Given the description of an element on the screen output the (x, y) to click on. 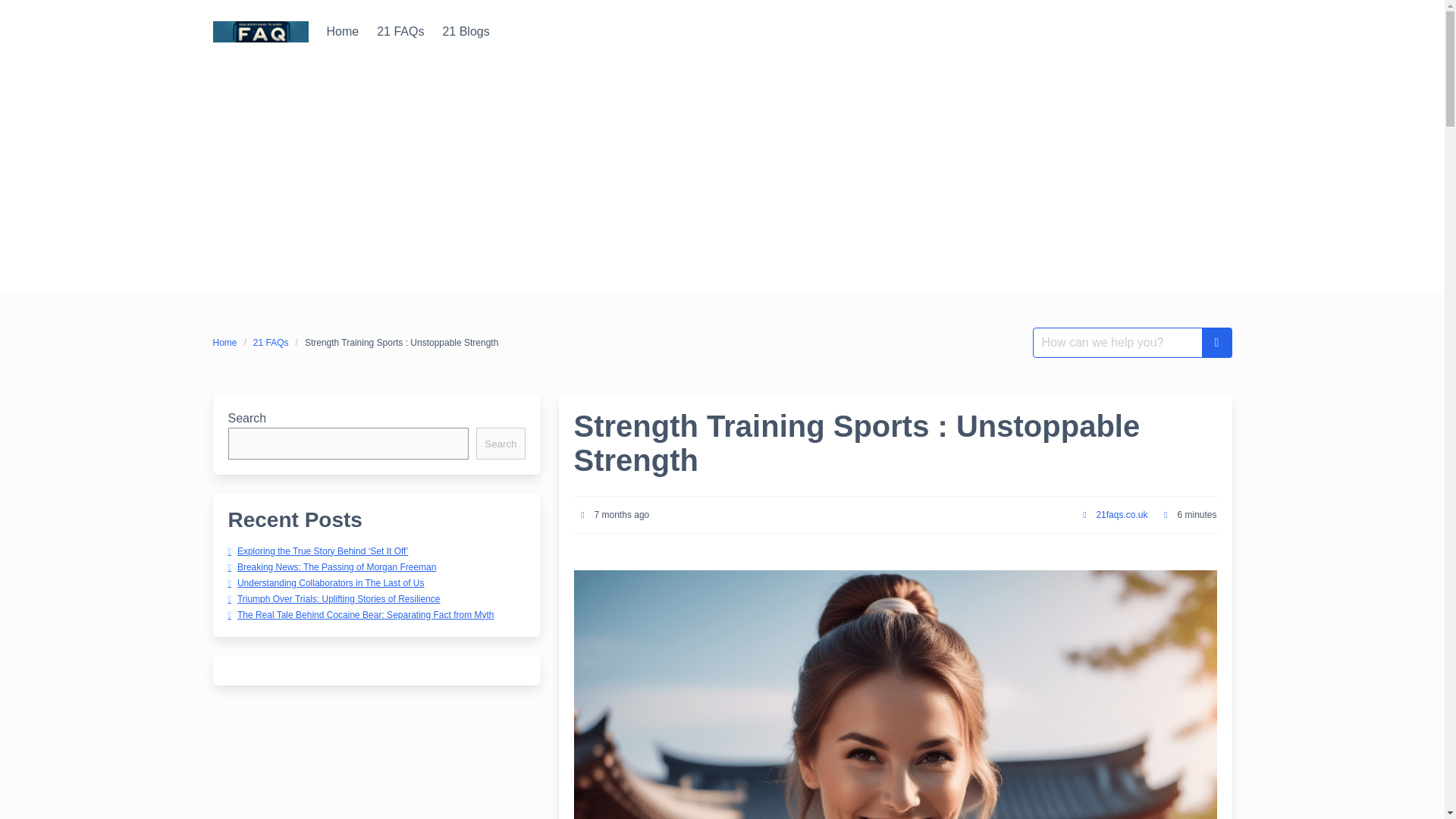
Triumph Over Trials: Uplifting Stories of Resilience (333, 597)
21 Blogs (464, 31)
Search (500, 443)
Home (342, 31)
Understanding Collaborators in The Last of Us (325, 583)
21 FAQs (400, 31)
21 FAQs (270, 342)
21 Blogs (464, 31)
Breaking News: The Passing of Morgan Freeman (331, 566)
Home (227, 342)
21 FAQs (400, 31)
Home (342, 31)
Strength Training Sports : Unstoppable Strength (401, 342)
